Given the description of an element on the screen output the (x, y) to click on. 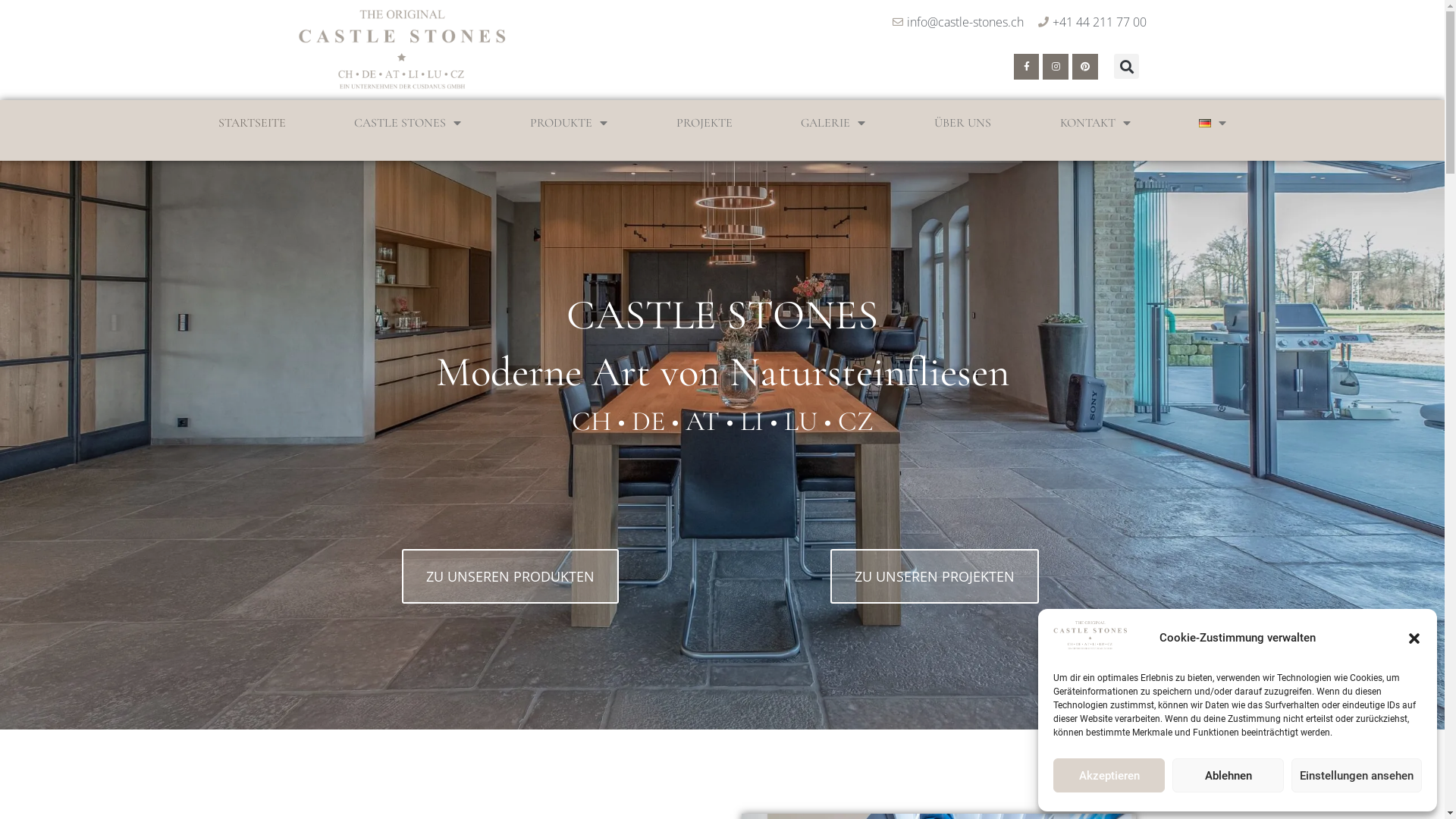
KONTAKT Element type: text (1094, 122)
CASTLE STONES Element type: text (407, 122)
PRODUKTE Element type: text (568, 122)
ZU UNSEREN PROJEKTEN Element type: text (934, 576)
PROJEKTE Element type: text (704, 122)
Ablehnen Element type: text (1227, 775)
Einstellungen ansehen Element type: text (1356, 775)
info@castle-stones.ch Element type: text (956, 21)
GALERIE Element type: text (833, 122)
+41 44 211 77 00 Element type: text (1091, 21)
Akzeptieren Element type: text (1108, 775)
STARTSEITE Element type: text (251, 122)
ZU UNSEREN PRODUKTEN Element type: text (509, 576)
